Given the description of an element on the screen output the (x, y) to click on. 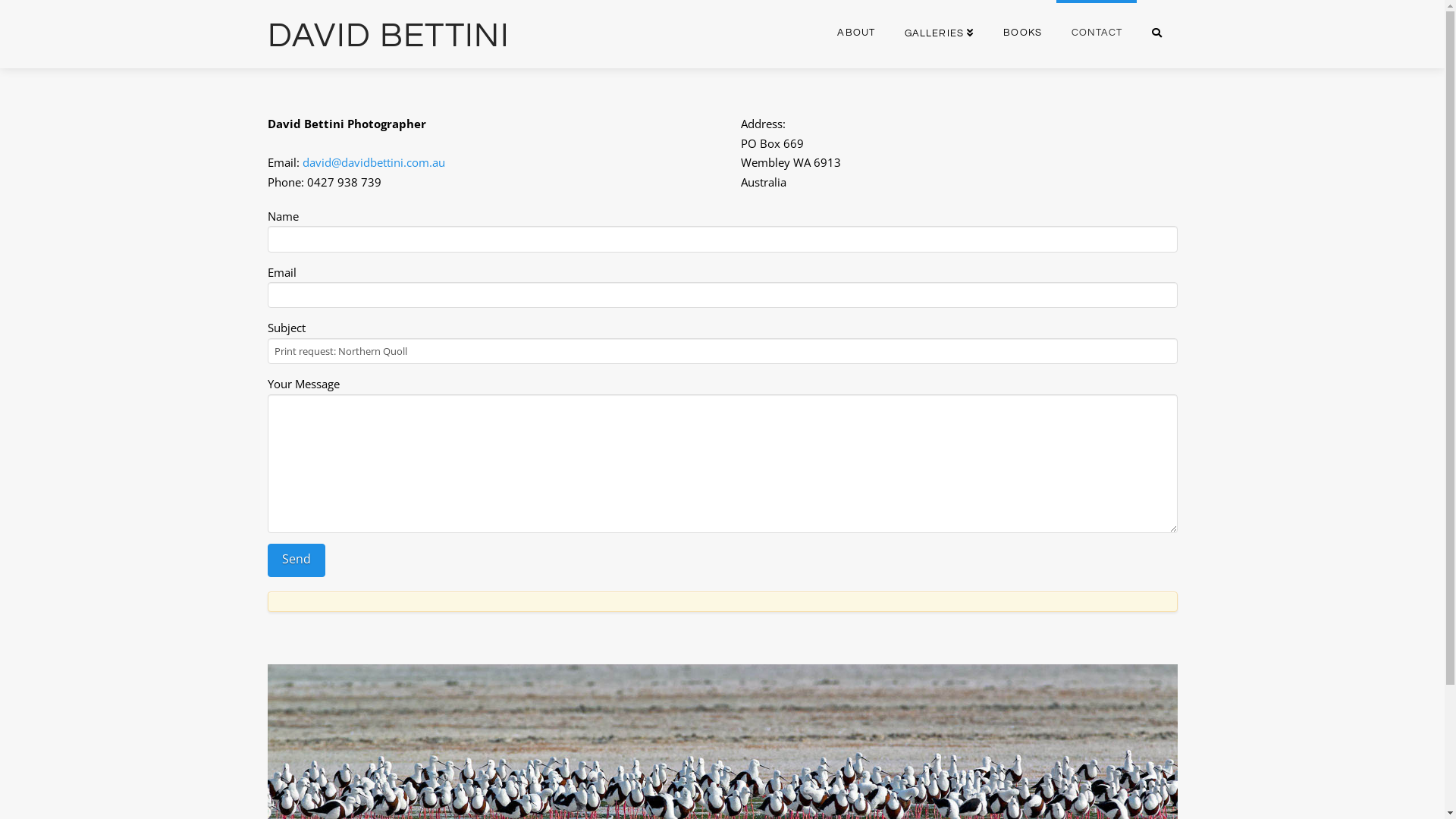
Send Element type: text (295, 560)
BOOKS Element type: text (1021, 34)
ABOUT Element type: text (855, 34)
david@davidbettini.com.au Element type: text (372, 161)
CONTACT Element type: text (1096, 34)
GALLERIES Element type: text (938, 34)
DAVID BETTINI Element type: text (387, 35)
